Given the description of an element on the screen output the (x, y) to click on. 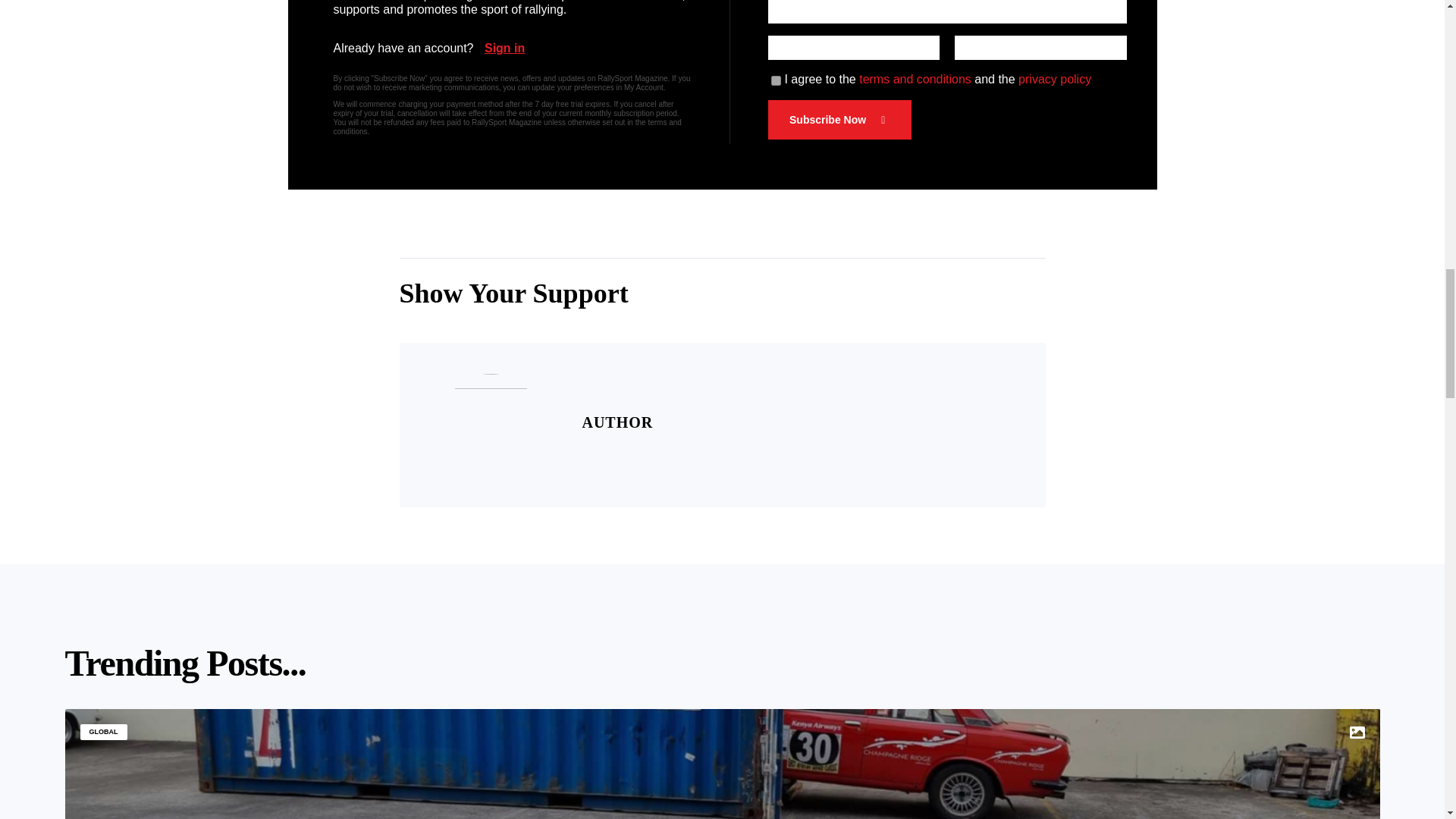
1 (775, 80)
